Given the description of an element on the screen output the (x, y) to click on. 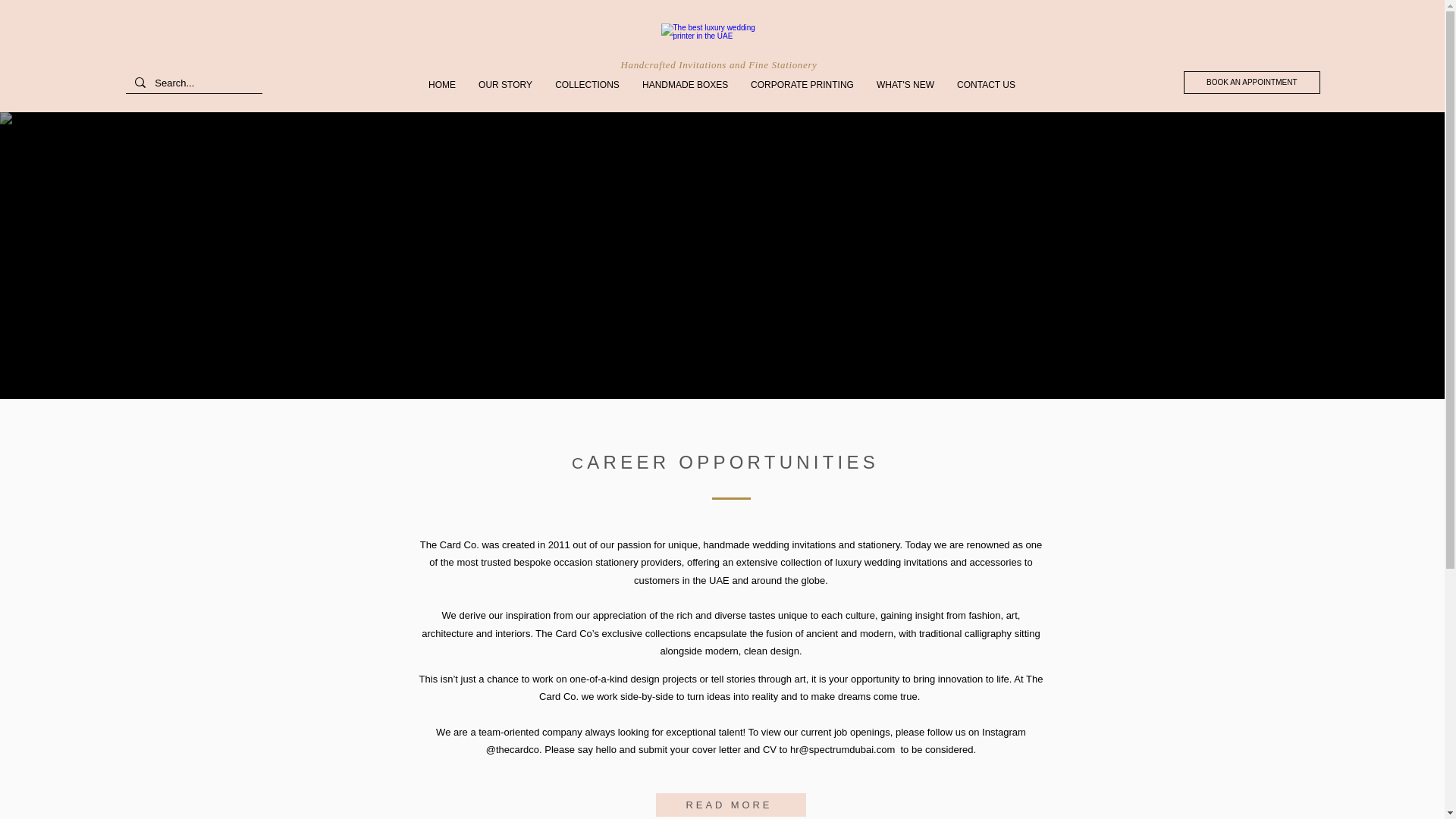
HANDMADE BOXES (684, 84)
COLLECTIONS (586, 84)
BOOK AN APPOINTMENT (1251, 82)
OUR STORY (505, 84)
READ MORE (730, 804)
CONTACT US (985, 84)
HOME (441, 84)
CORPORATE PRINTING (801, 84)
WHAT'S NEW (904, 84)
